Given the description of an element on the screen output the (x, y) to click on. 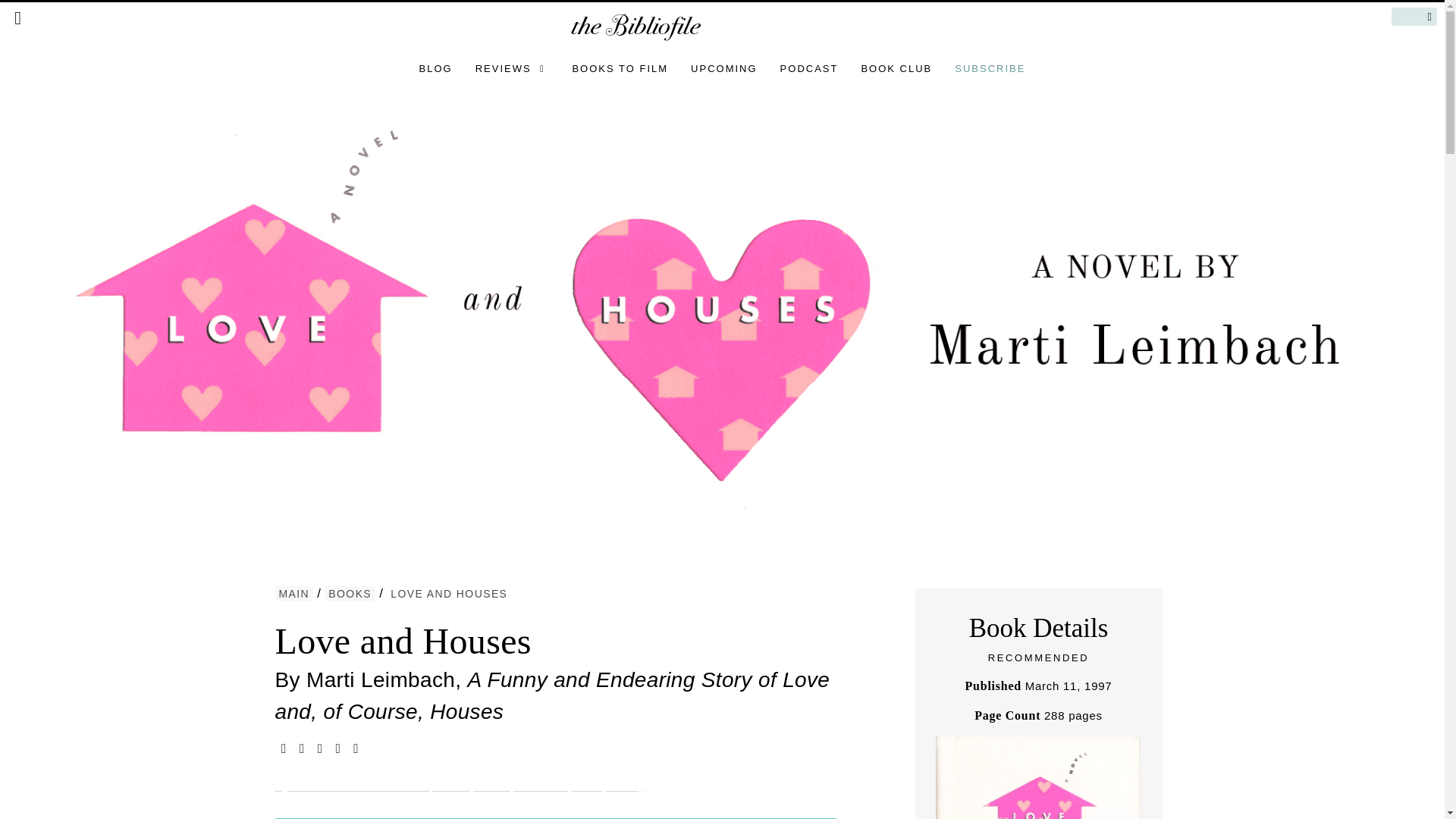
Love and Houses (403, 640)
UPCOMING (723, 68)
BLOG (435, 68)
REVIEWS (513, 68)
BOOKS TO FILM (620, 68)
PODCAST (809, 68)
BOOK CLUB (895, 68)
SUBSCRIBE (990, 68)
